Given the description of an element on the screen output the (x, y) to click on. 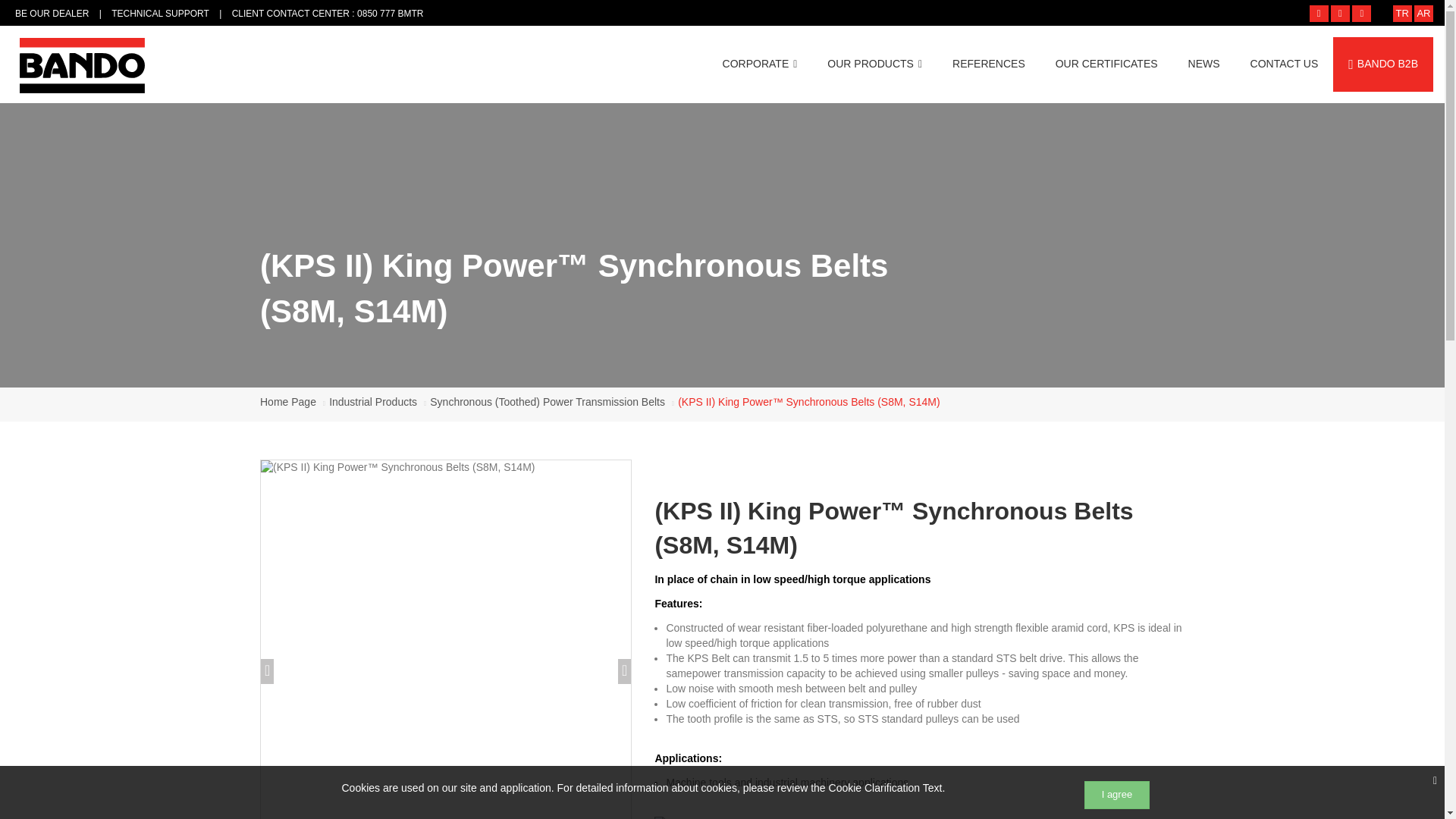
CLIENT CONTACT CENTER : 0850 777 (324, 13)
CORPORATE (759, 63)
OUR PRODUCTS (874, 63)
TR (1402, 13)
REFERENCES (989, 63)
TECHNICAL SUPPORT (160, 13)
AR (1422, 13)
BE OUR DEALER (51, 13)
